Given the description of an element on the screen output the (x, y) to click on. 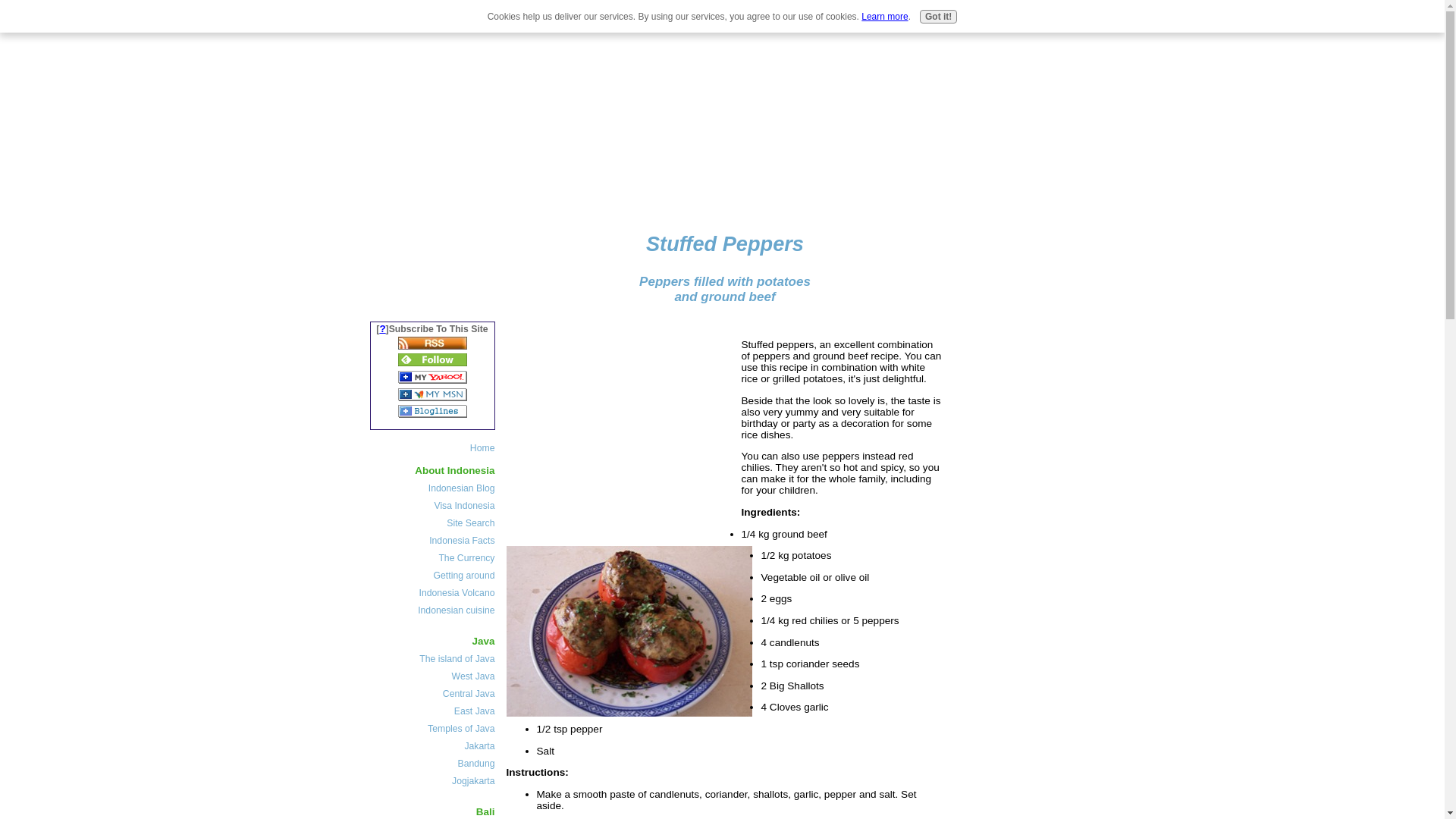
Indonesia Volcano (436, 592)
Site Search (436, 522)
Temples of Java (436, 728)
Indonesia Facts (436, 540)
East Java (436, 711)
Indonesian cuisine (436, 610)
Visa Indonesia (436, 505)
Bandung (436, 763)
Home (433, 447)
Indonesian Blog (436, 488)
Jakarta (436, 745)
The island of Java (436, 658)
? (381, 328)
Jogjakarta (436, 780)
West Java (436, 676)
